Given the description of an element on the screen output the (x, y) to click on. 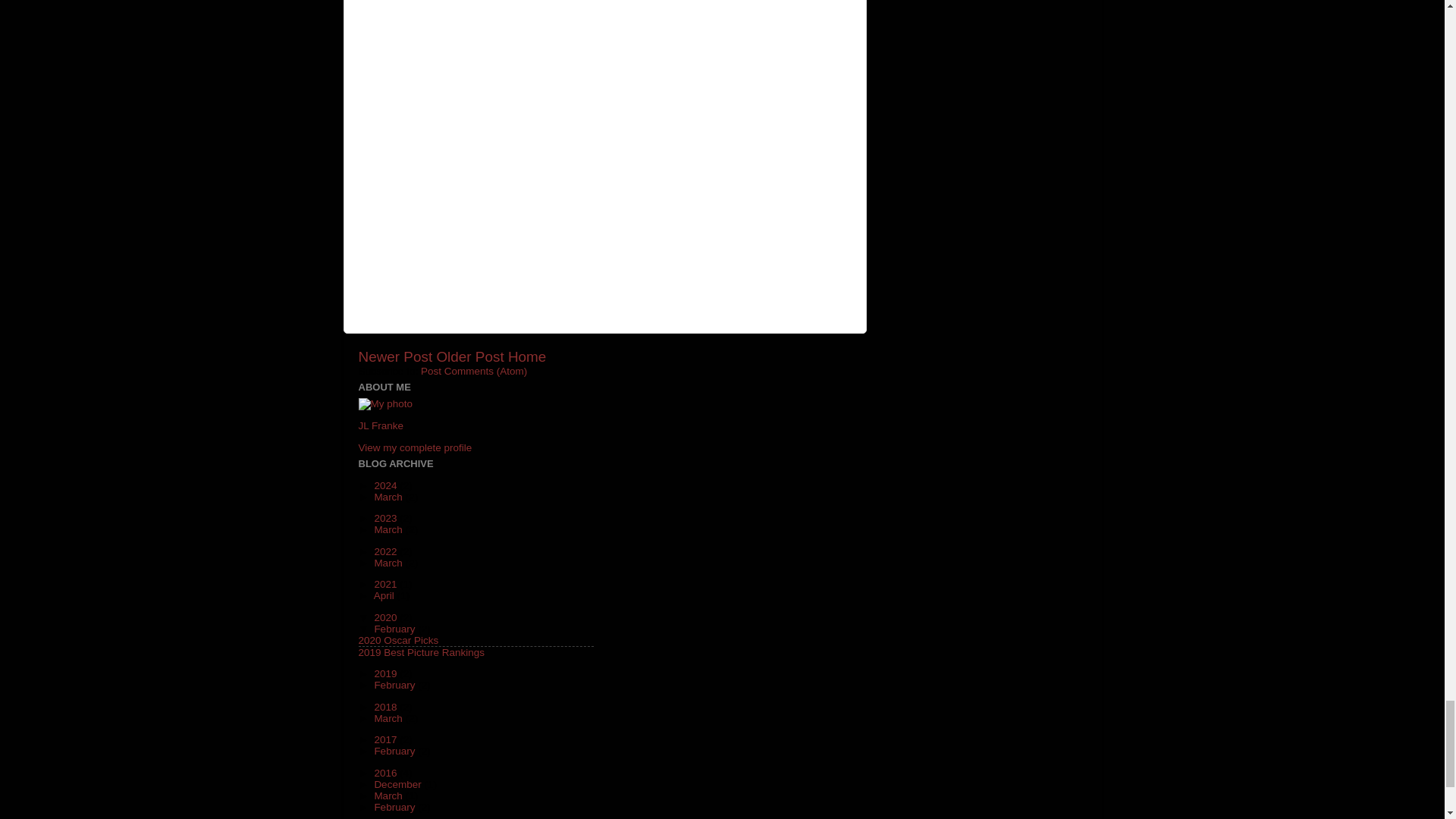
View my complete profile (414, 447)
March (389, 529)
Home (527, 356)
Newer Post (395, 356)
2024 (386, 485)
Newer Post (395, 356)
March (389, 496)
Older Post (469, 356)
JL Franke (380, 425)
2022 (386, 551)
Older Post (469, 356)
2023 (386, 518)
